Given the description of an element on the screen output the (x, y) to click on. 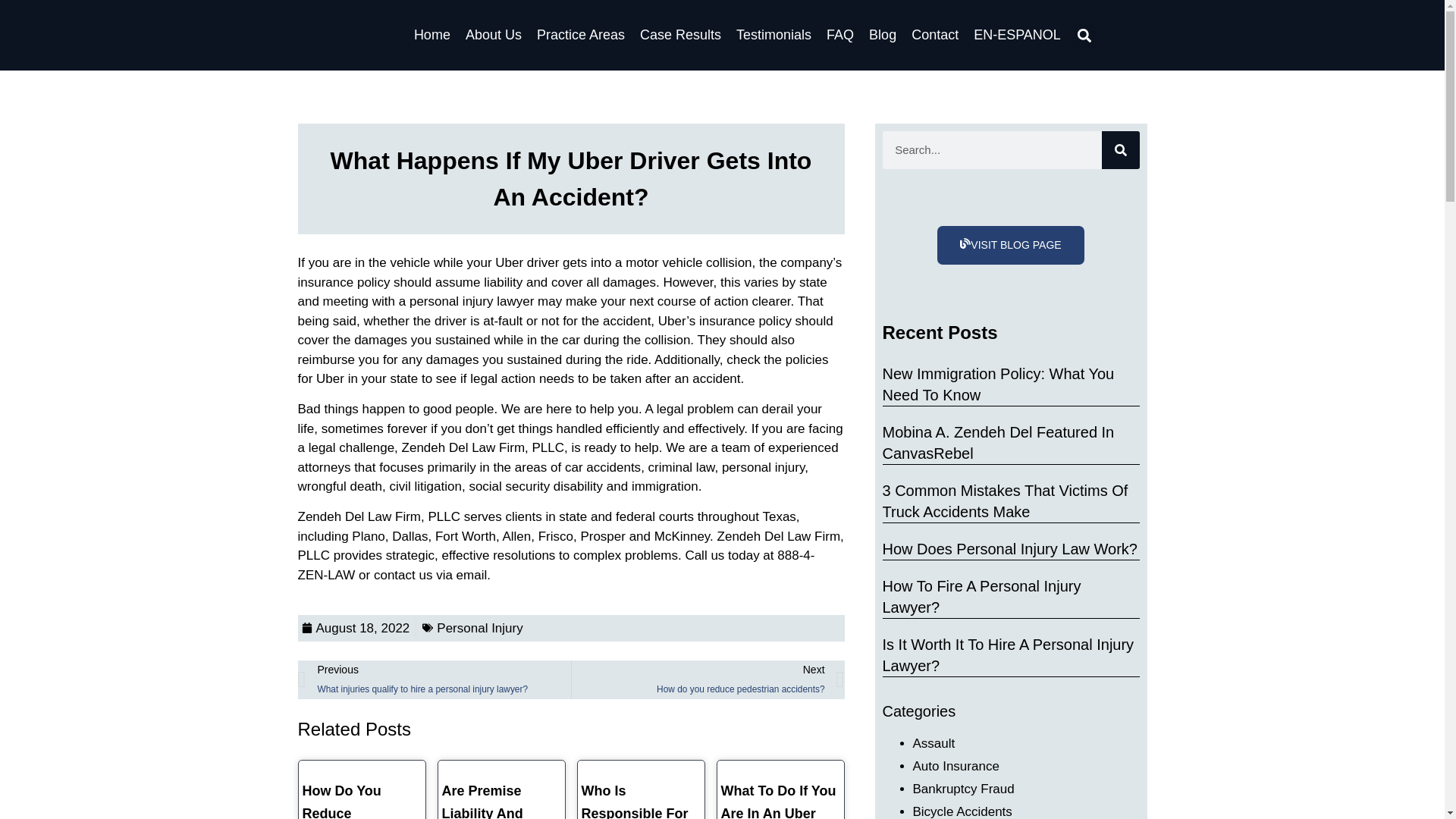
Home (432, 34)
Testimonials (773, 34)
EN-ESPANOL (1016, 34)
Blog (881, 34)
Contact (934, 34)
About Us (493, 34)
Practice Areas (580, 34)
Case Results (680, 34)
FAQ (839, 34)
